Given the description of an element on the screen output the (x, y) to click on. 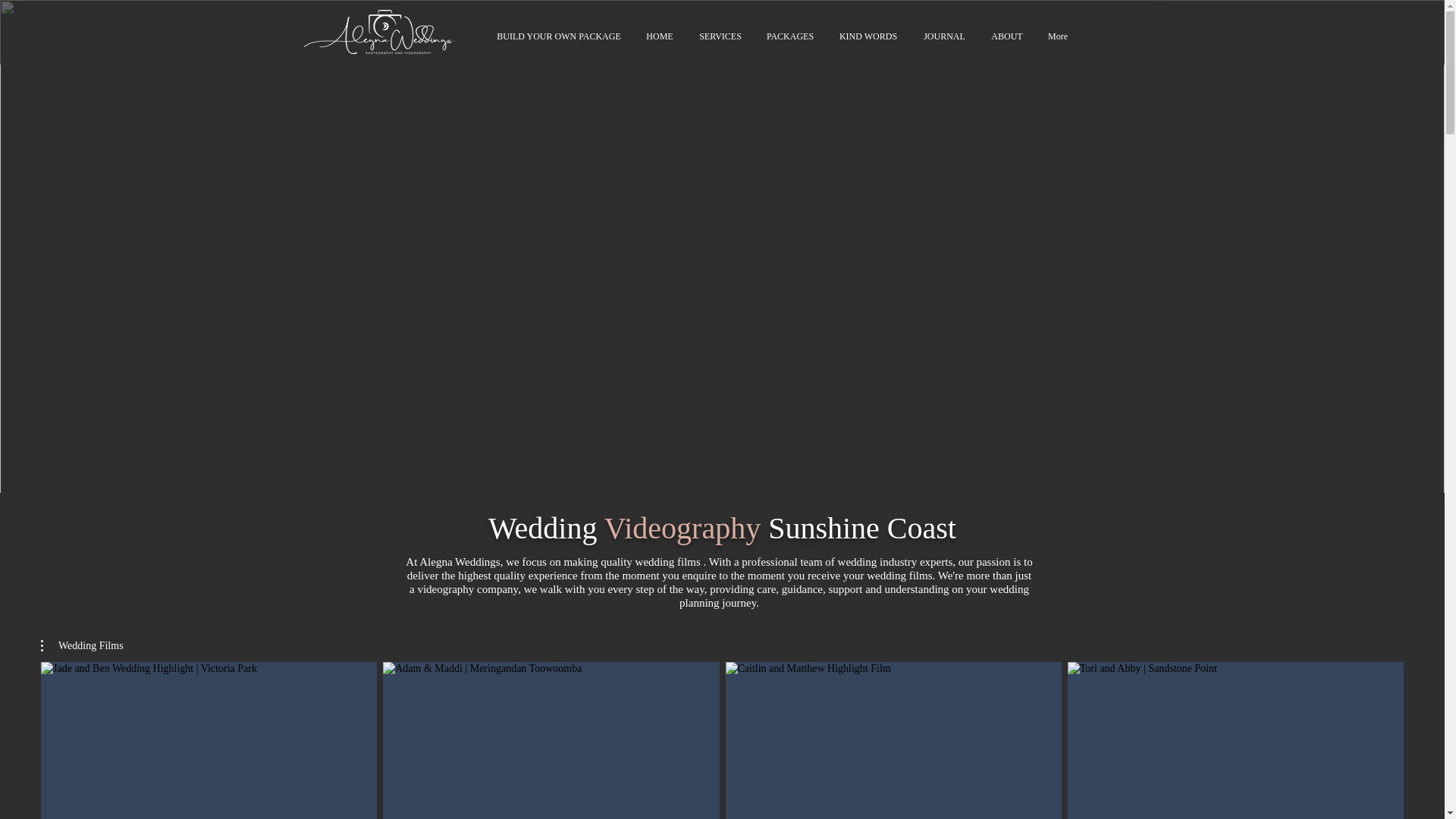
KIND WORDS (869, 36)
ABOUT (1006, 36)
JOURNAL (944, 36)
BUILD YOUR OWN PACKAGE (558, 36)
PACKAGES (789, 36)
HOME (658, 36)
